Given the description of an element on the screen output the (x, y) to click on. 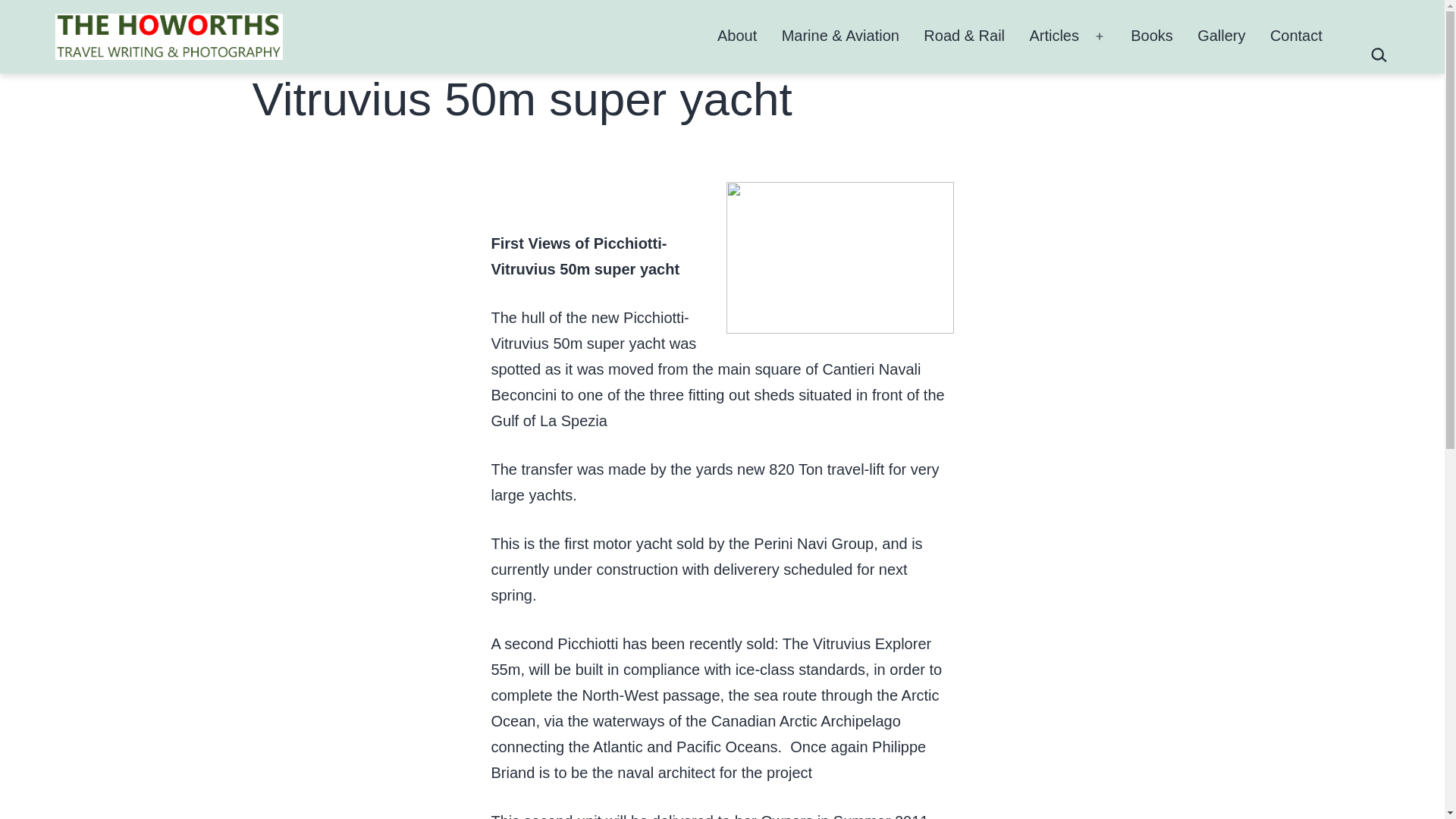
Contact (1296, 36)
About (737, 36)
Books (1151, 36)
Gallery (1221, 36)
Picchiotti-Vitruvius 50m super yacht (585, 256)
Articles (1054, 36)
